Given the description of an element on the screen output the (x, y) to click on. 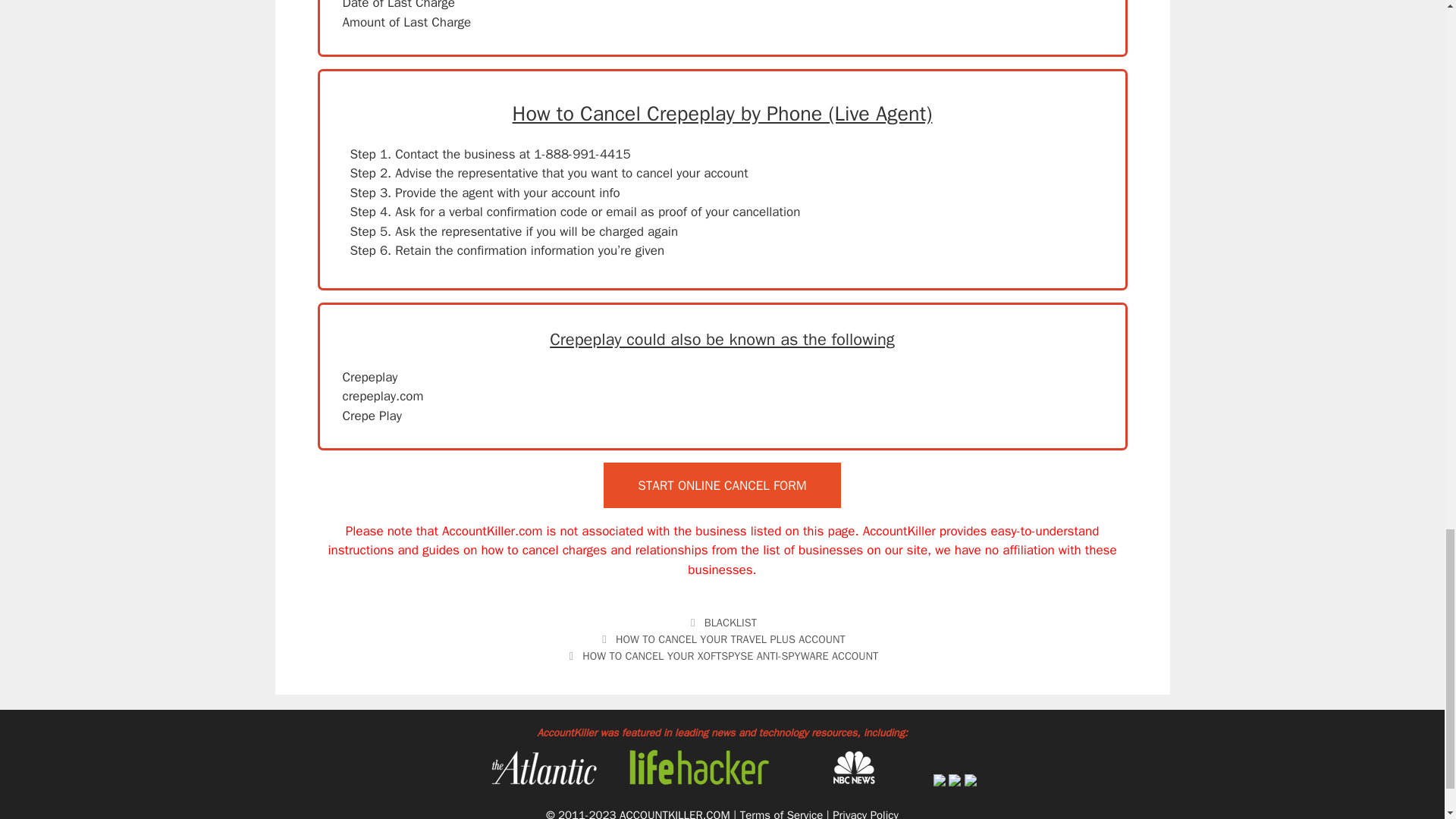
BLACKLIST (730, 622)
HOW TO CANCEL YOUR TRAVEL PLUS ACCOUNT (730, 639)
START ONLINE CANCEL FORM (722, 484)
HOW TO CANCEL YOUR XOFTSPYSE ANTI-SPYWARE ACCOUNT (729, 655)
Terms of Service (781, 813)
Privacy Policy (865, 813)
